Given the description of an element on the screen output the (x, y) to click on. 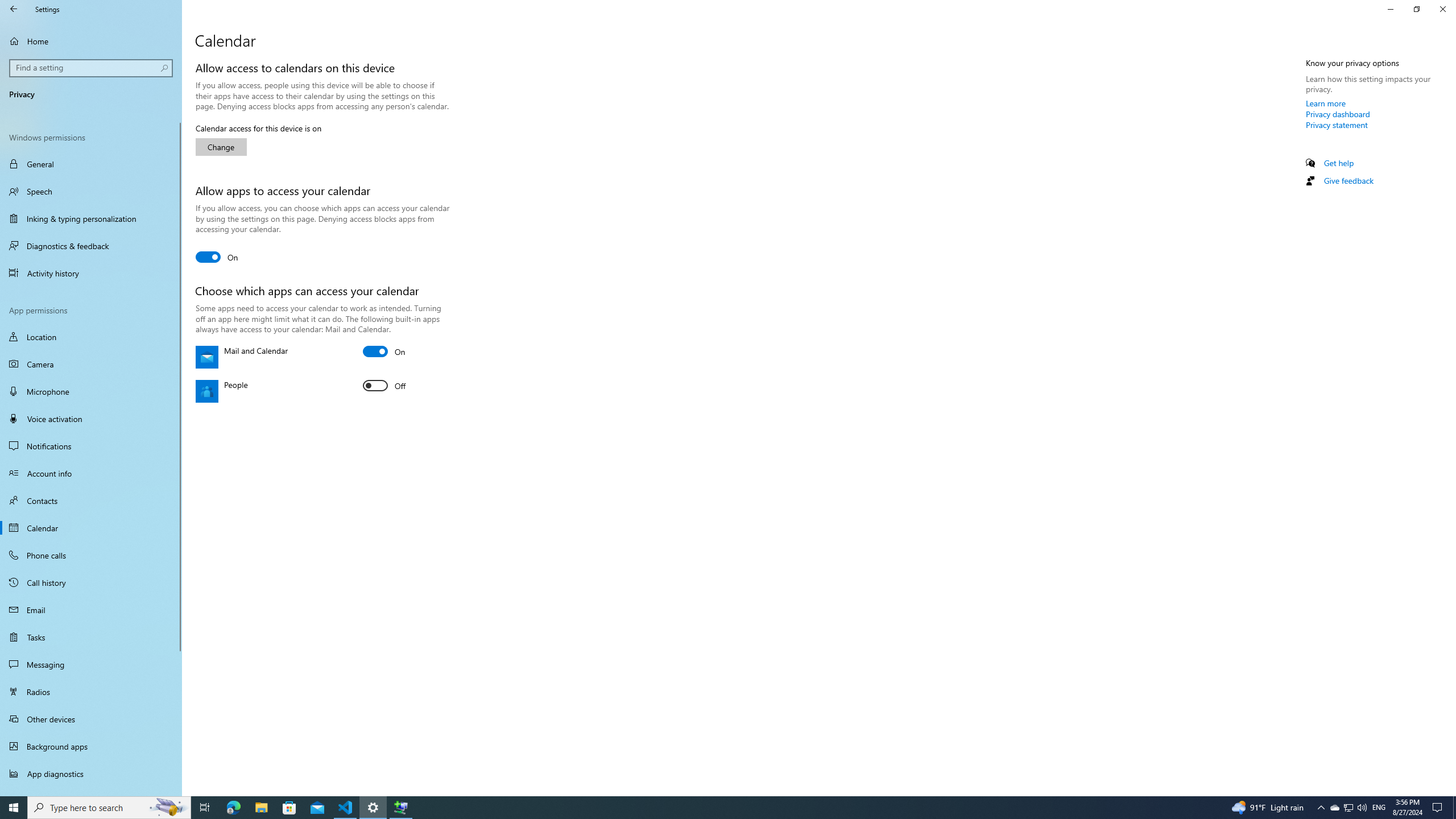
Privacy dashboard (1338, 113)
Radios (91, 691)
Close Settings (1442, 9)
Email (91, 609)
Mail and Calendar (384, 351)
General (91, 163)
Home (91, 40)
Restore Settings (1416, 9)
Learn more (1326, 102)
People (384, 385)
App diagnostics (91, 773)
Automatic file downloads (91, 791)
Activity history (91, 272)
